Given the description of an element on the screen output the (x, y) to click on. 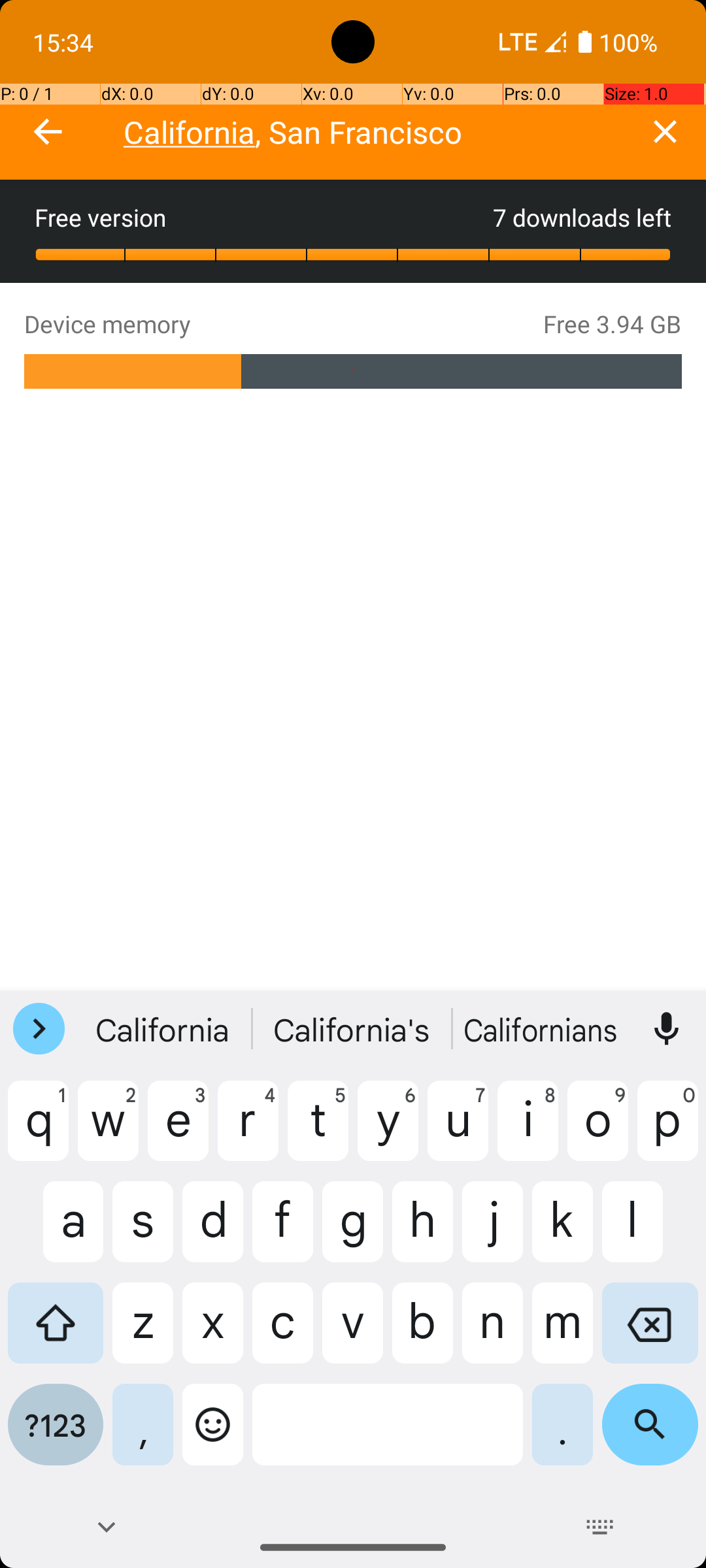
California, San Francisco Element type: android.widget.EditText (373, 131)
Device memory Element type: android.widget.TextView (283, 323)
Free 3.94 GB Element type: android.widget.TextView (612, 323)
Free version Element type: android.widget.TextView (263, 216)
7 downloads left Element type: android.widget.TextView (581, 216)
California Element type: android.widget.FrameLayout (163, 1028)
California's Element type: android.widget.FrameLayout (352, 1028)
Californians Element type: android.widget.FrameLayout (541, 1028)
